Given the description of an element on the screen output the (x, y) to click on. 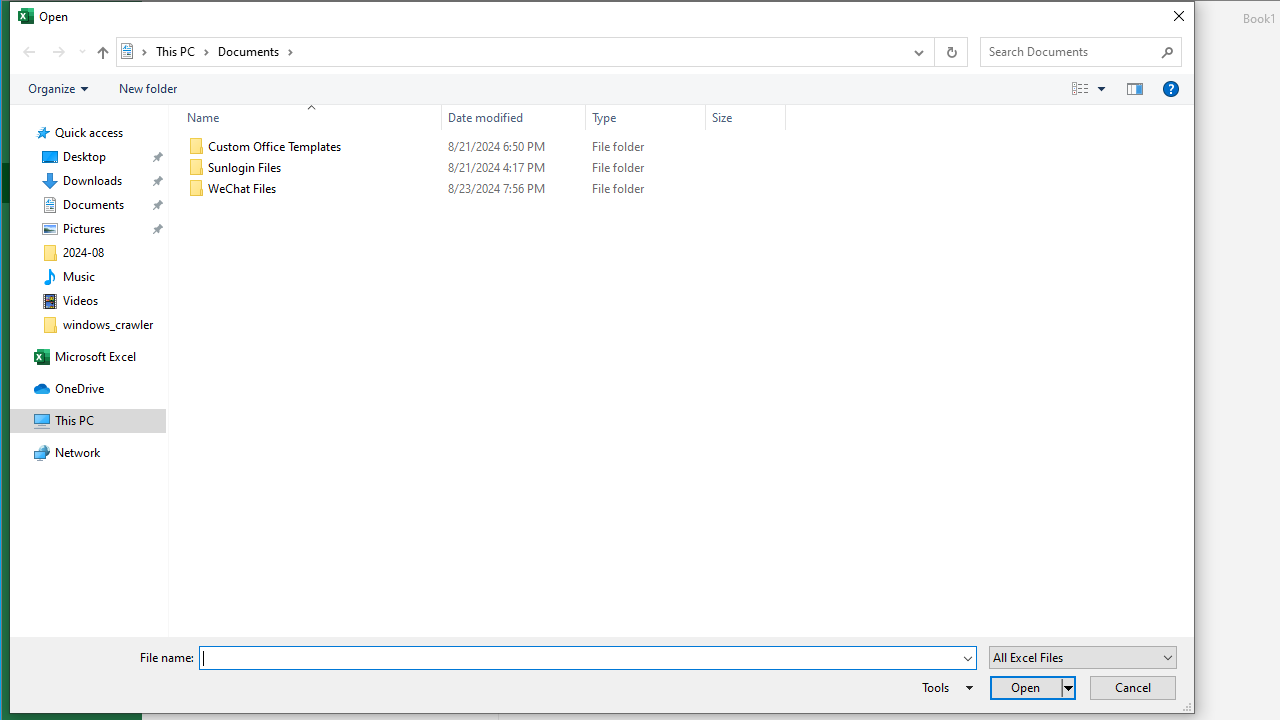
Tools (943, 687)
This PC (182, 51)
Navigation buttons (52, 51)
Address: Documents (508, 51)
Search Box (1070, 51)
All locations (134, 51)
Name (323, 188)
Up band toolbar (102, 55)
Previous Locations (917, 51)
Cancel (1133, 688)
Sunlogin Files (483, 167)
Refresh "Documents" (F5) (950, 51)
System (21, 19)
Command Module (602, 89)
